Given the description of an element on the screen output the (x, y) to click on. 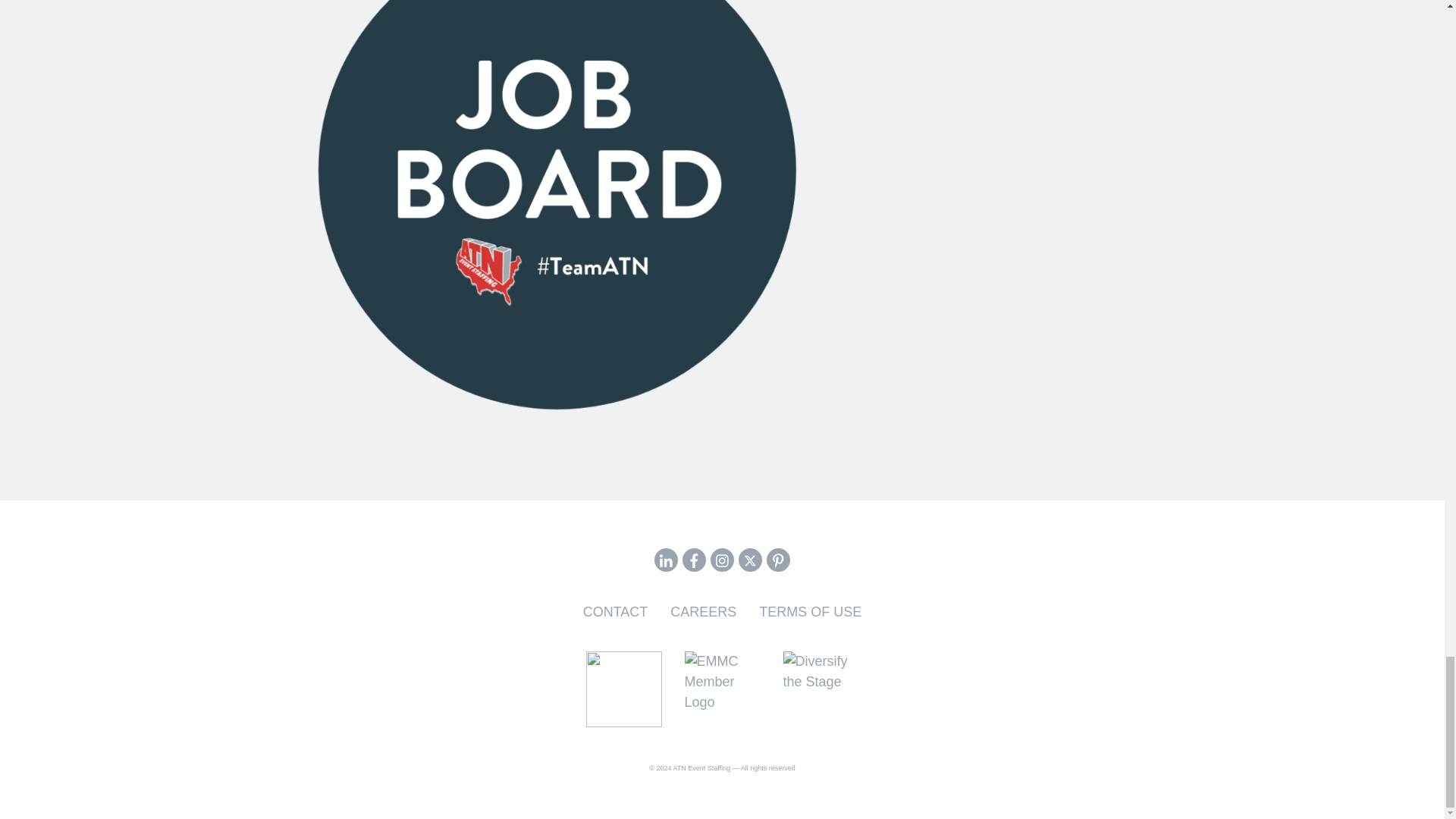
CAREERS (702, 611)
TERMS OF USE (809, 611)
CONTACT (615, 611)
